Given the description of an element on the screen output the (x, y) to click on. 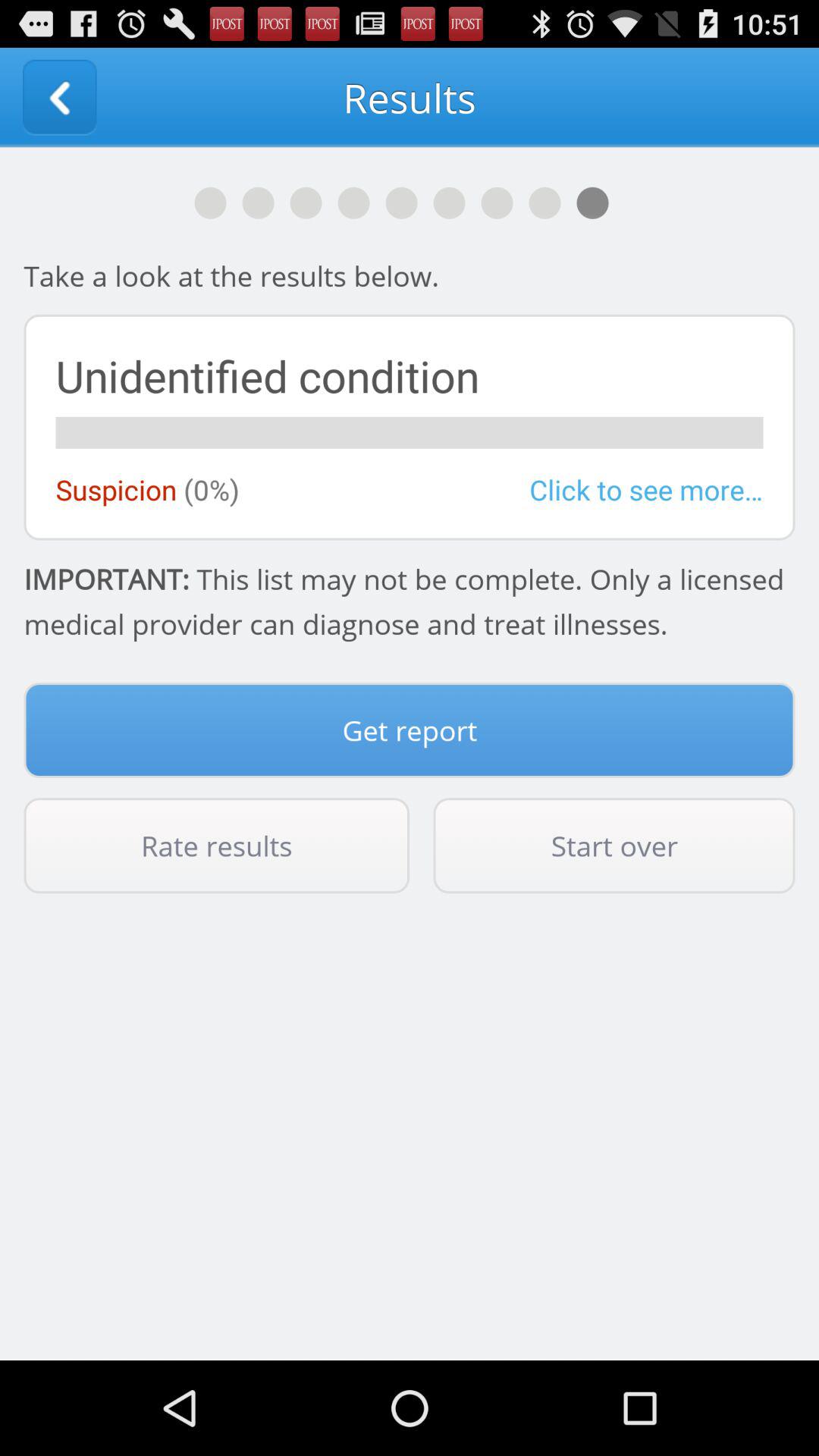
turn on the button next to rate results icon (614, 845)
